Given the description of an element on the screen output the (x, y) to click on. 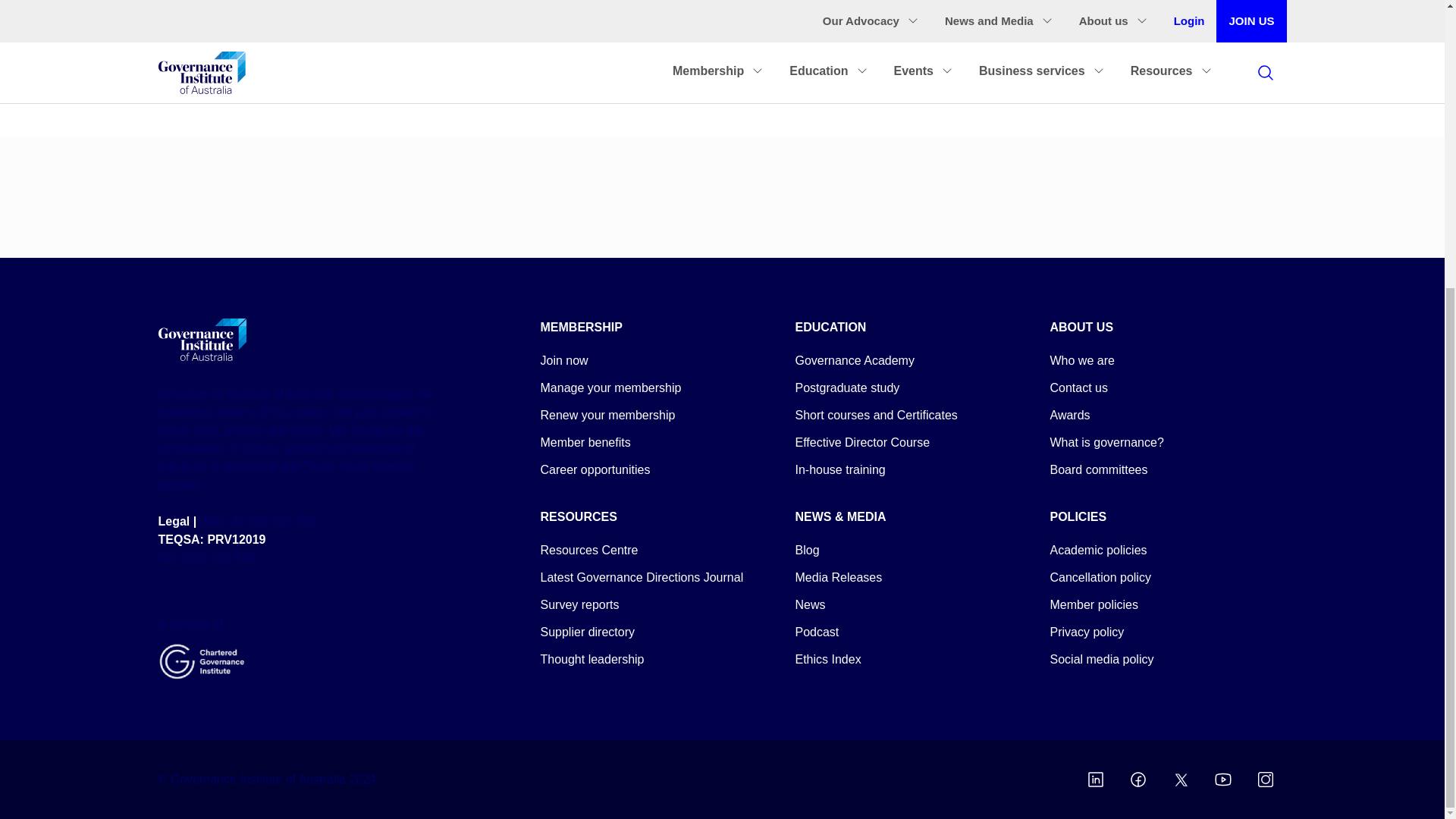
Facebook (1137, 779)
Youtube (1222, 779)
Linkedin (1095, 779)
Instagram (1264, 779)
Twitter (1179, 779)
